Given the description of an element on the screen output the (x, y) to click on. 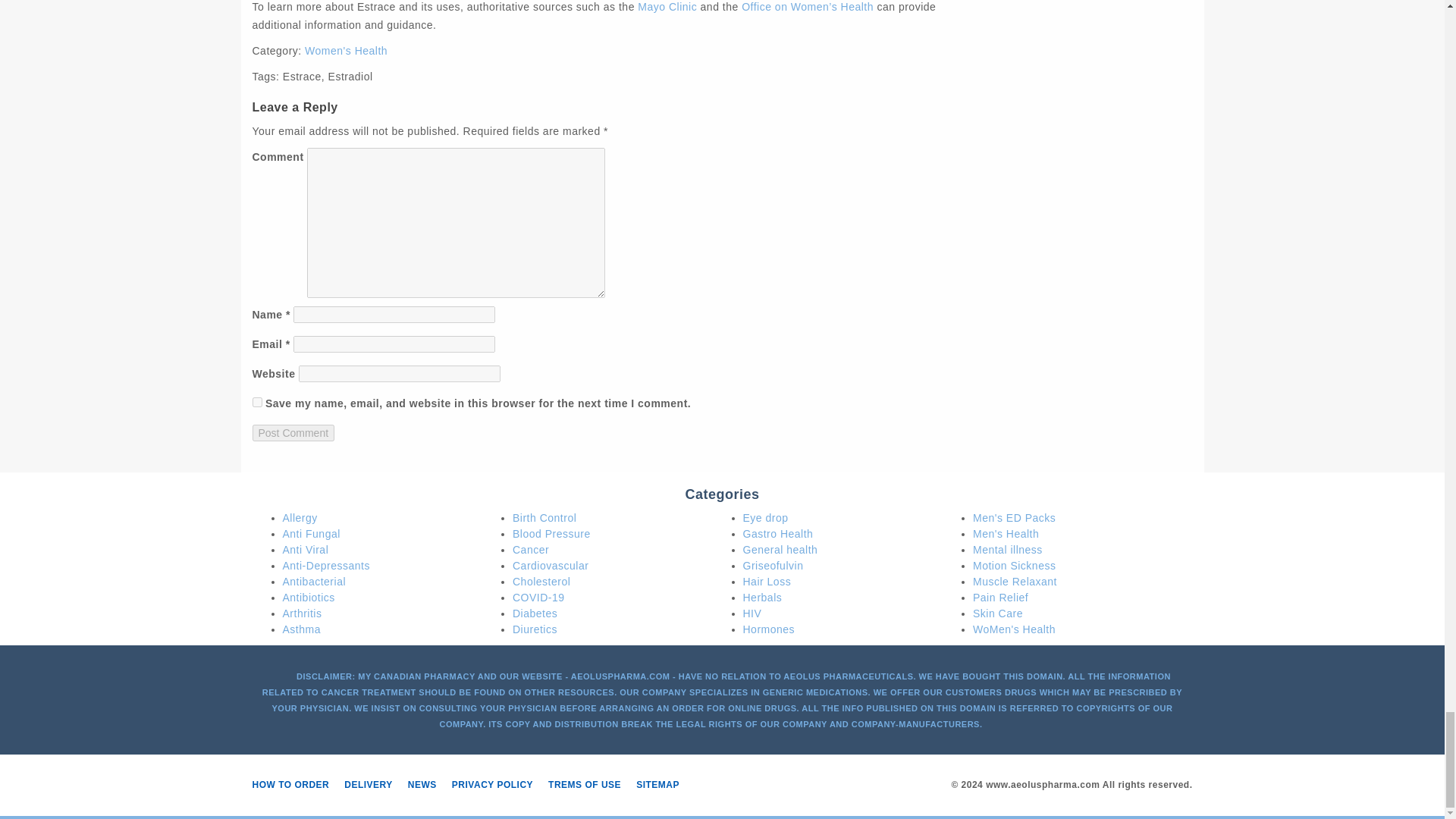
Women's Health (345, 50)
Mayo Clinic (667, 6)
Post Comment (292, 433)
yes (256, 402)
